Given the description of an element on the screen output the (x, y) to click on. 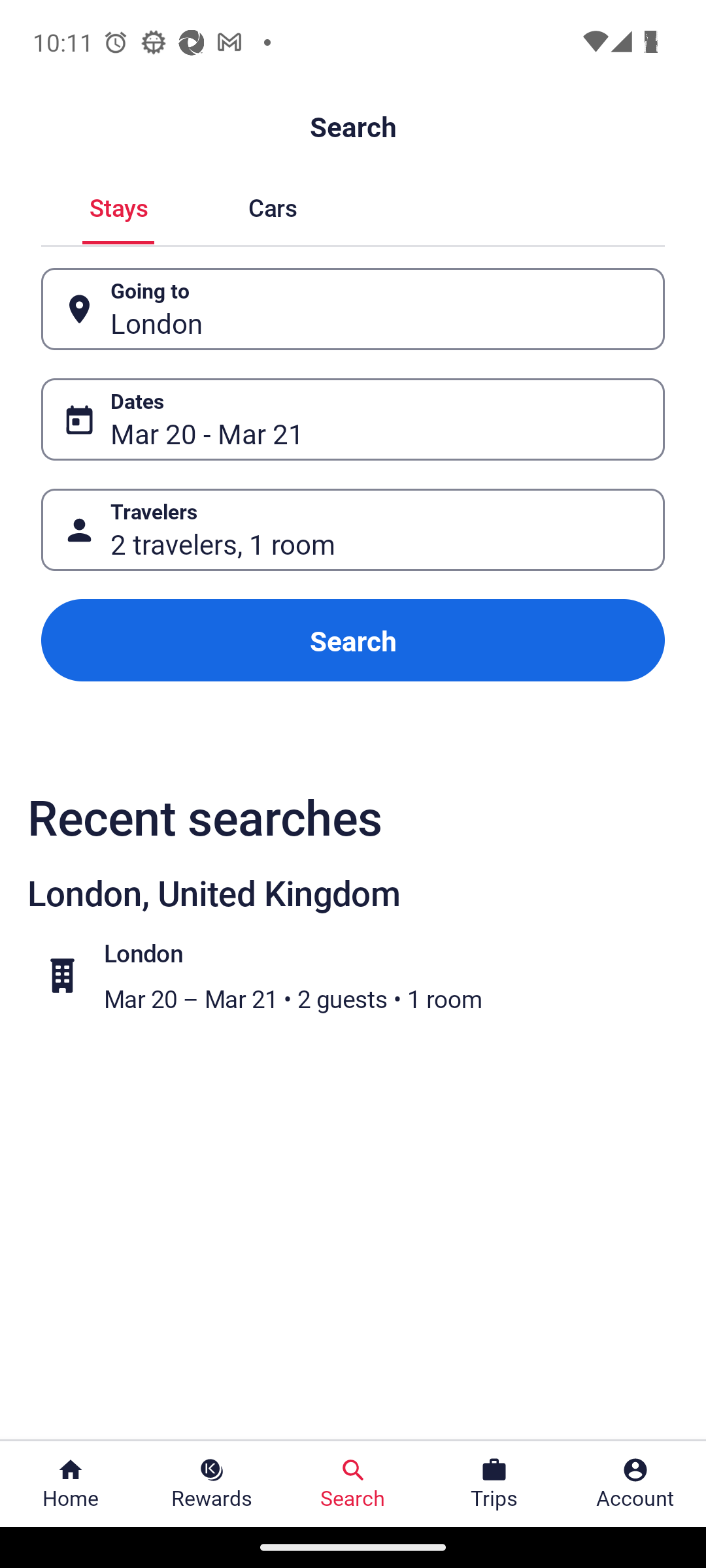
Cars (272, 205)
Going to Button London (352, 308)
Dates Button Mar 20 - Mar 21 (352, 418)
Travelers Button 2 travelers, 1 room (352, 529)
Search (352, 640)
London Mar 20 – Mar 21 • 2 guests • 1 room (363, 974)
Home Home Button (70, 1483)
Rewards Rewards Button (211, 1483)
Trips Trips Button (493, 1483)
Account Profile. Button (635, 1483)
